Given the description of an element on the screen output the (x, y) to click on. 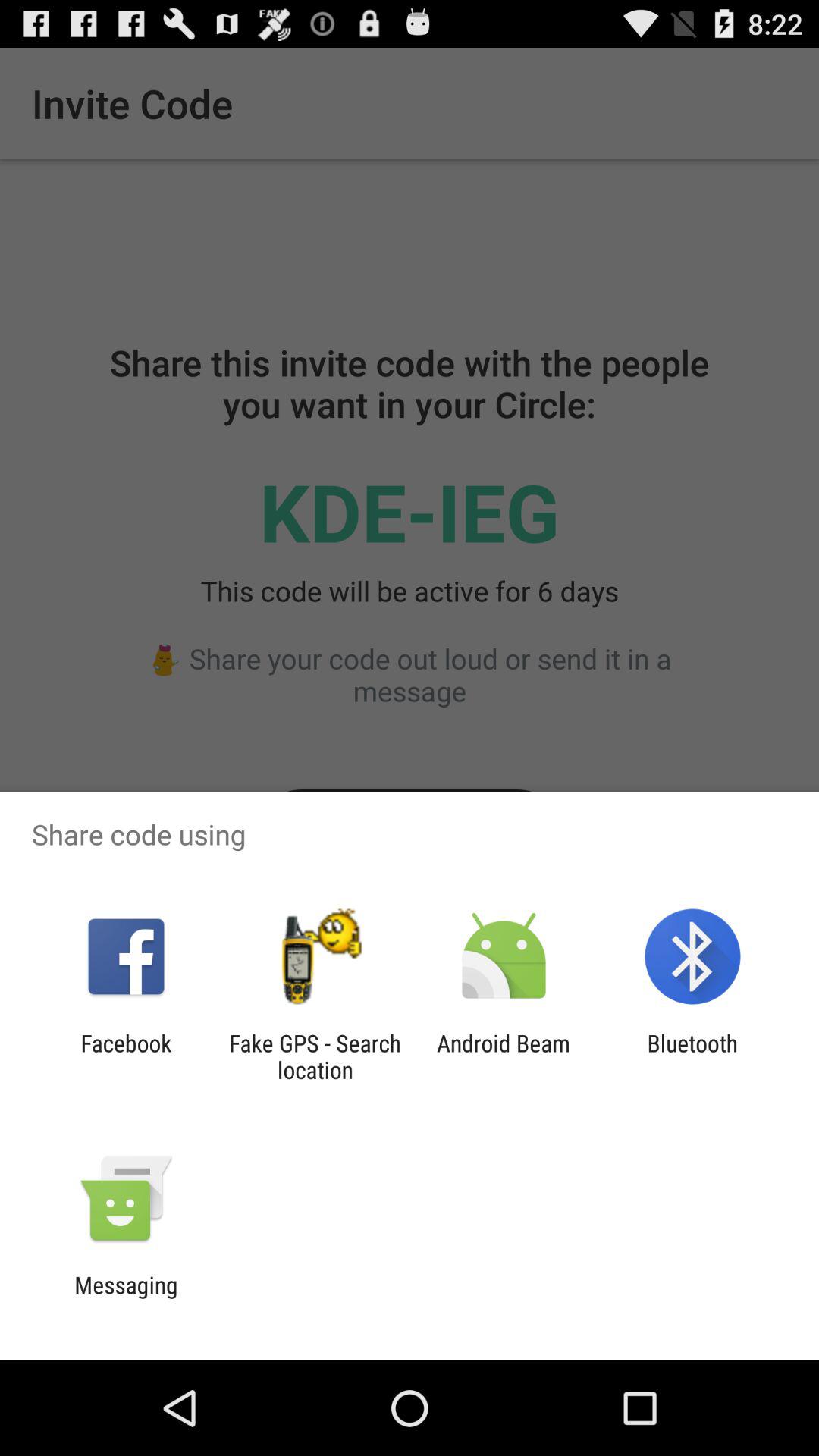
choose the item next to fake gps search icon (503, 1056)
